Given the description of an element on the screen output the (x, y) to click on. 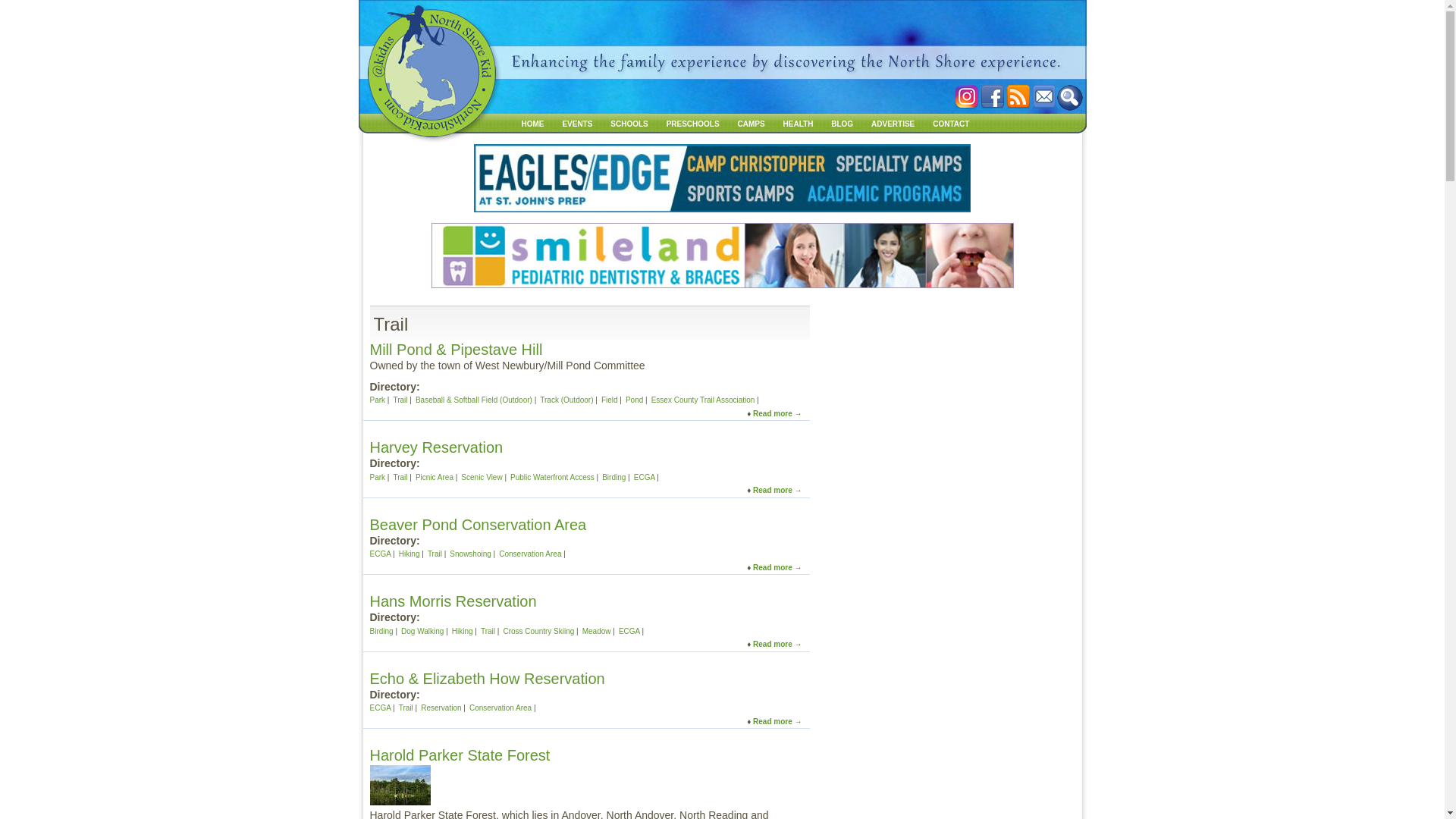
Public Waterfront Access (552, 477)
Park (377, 477)
Snowshoing (469, 553)
Birding (772, 566)
Beaver Pond Conservation Area (614, 477)
PRESCHOOLS (477, 523)
Trail (692, 123)
Trail (400, 477)
Search North Shore Kid (400, 399)
